Given the description of an element on the screen output the (x, y) to click on. 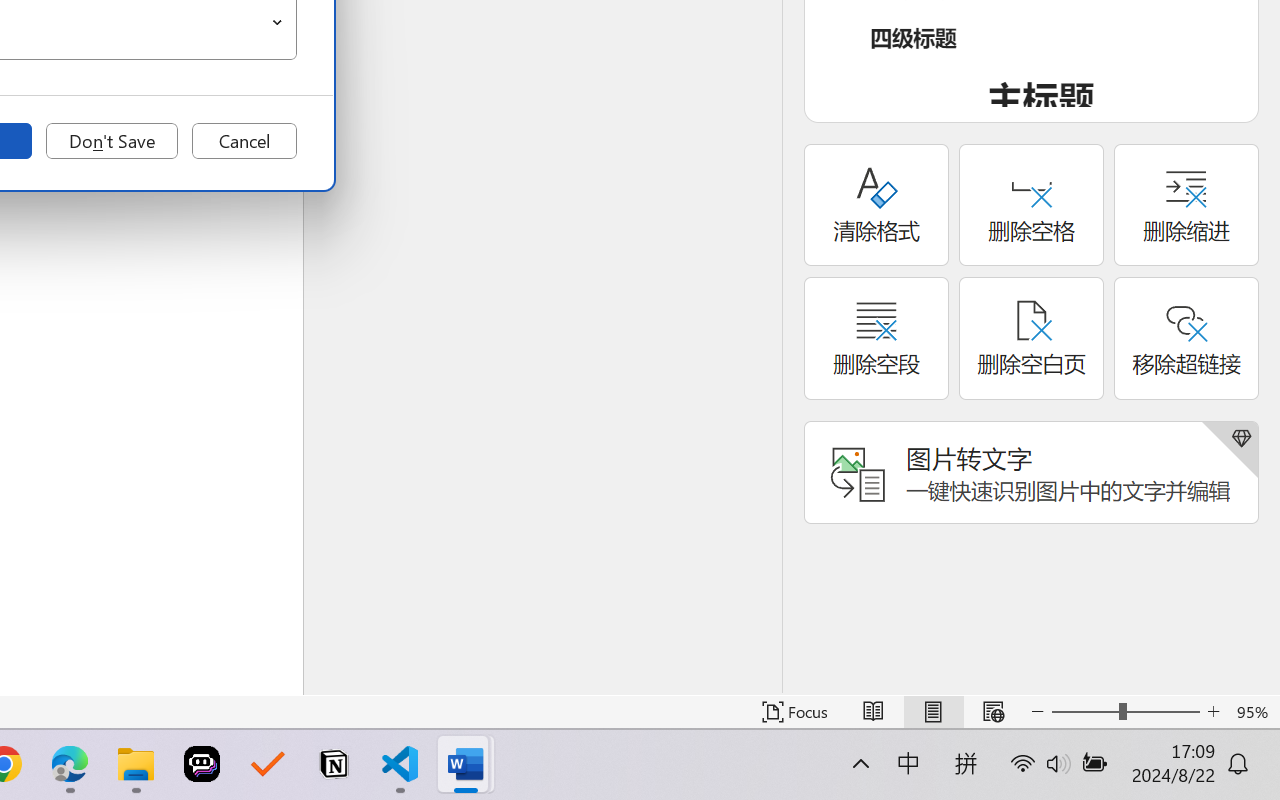
Cancel (244, 141)
Don't Save (111, 141)
